Given the description of an element on the screen output the (x, y) to click on. 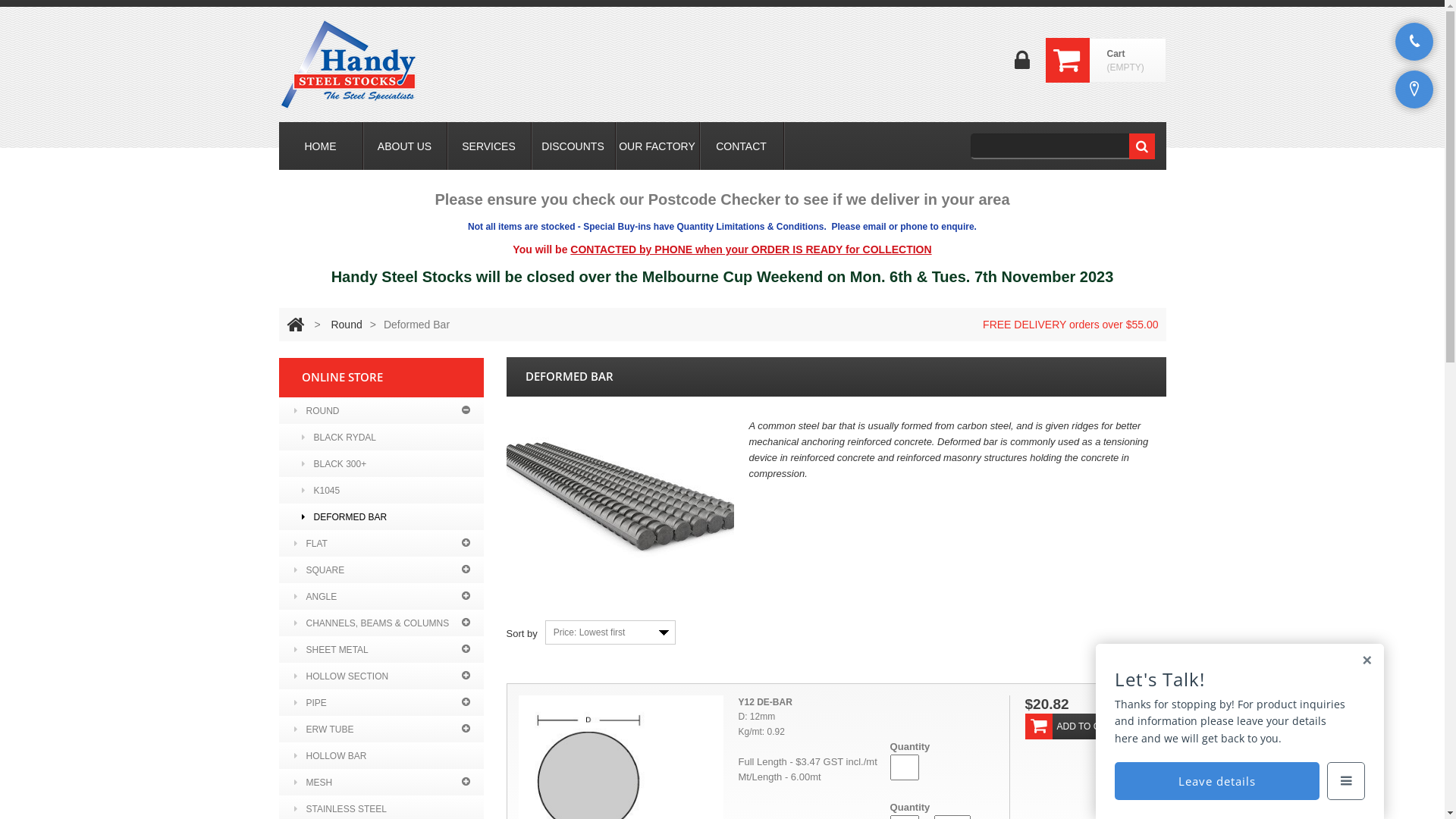
MESH Element type: text (381, 781)
CHANNELS, BEAMS & COLUMNS Element type: text (381, 622)
SQUARE Element type: text (381, 569)
K1045 Element type: text (381, 489)
ROUND Element type: text (381, 410)
OUR FACTORY Element type: text (657, 145)
ABOUT US Element type: text (403, 145)
PIPE Element type: text (381, 702)
Leave details Element type: text (1216, 781)
HOLLOW BAR Element type: text (381, 755)
Login Element type: hover (1021, 65)
Handy Steel Stocks Element type: hover (349, 63)
Round Element type: text (345, 324)
ANGLE Element type: text (381, 596)
ERW TUBE Element type: text (381, 728)
ADD TO CART Element type: text (1074, 726)
Return to Home Element type: hover (295, 324)
FLAT Element type: text (381, 543)
BLACK 300+ Element type: text (381, 463)
CONTACT Element type: text (740, 145)
HOLLOW SECTION Element type: text (381, 675)
SERVICES Element type: text (488, 145)
DEFORMED BAR Element type: text (381, 516)
Cart
(EMPTY) Element type: text (1126, 59)
SHEET METAL Element type: text (381, 649)
DISCOUNTS Element type: text (572, 145)
Deformed Bar Element type: hover (620, 503)
BLACK RYDAL Element type: text (381, 436)
HOME Element type: text (320, 145)
